Given the description of an element on the screen output the (x, y) to click on. 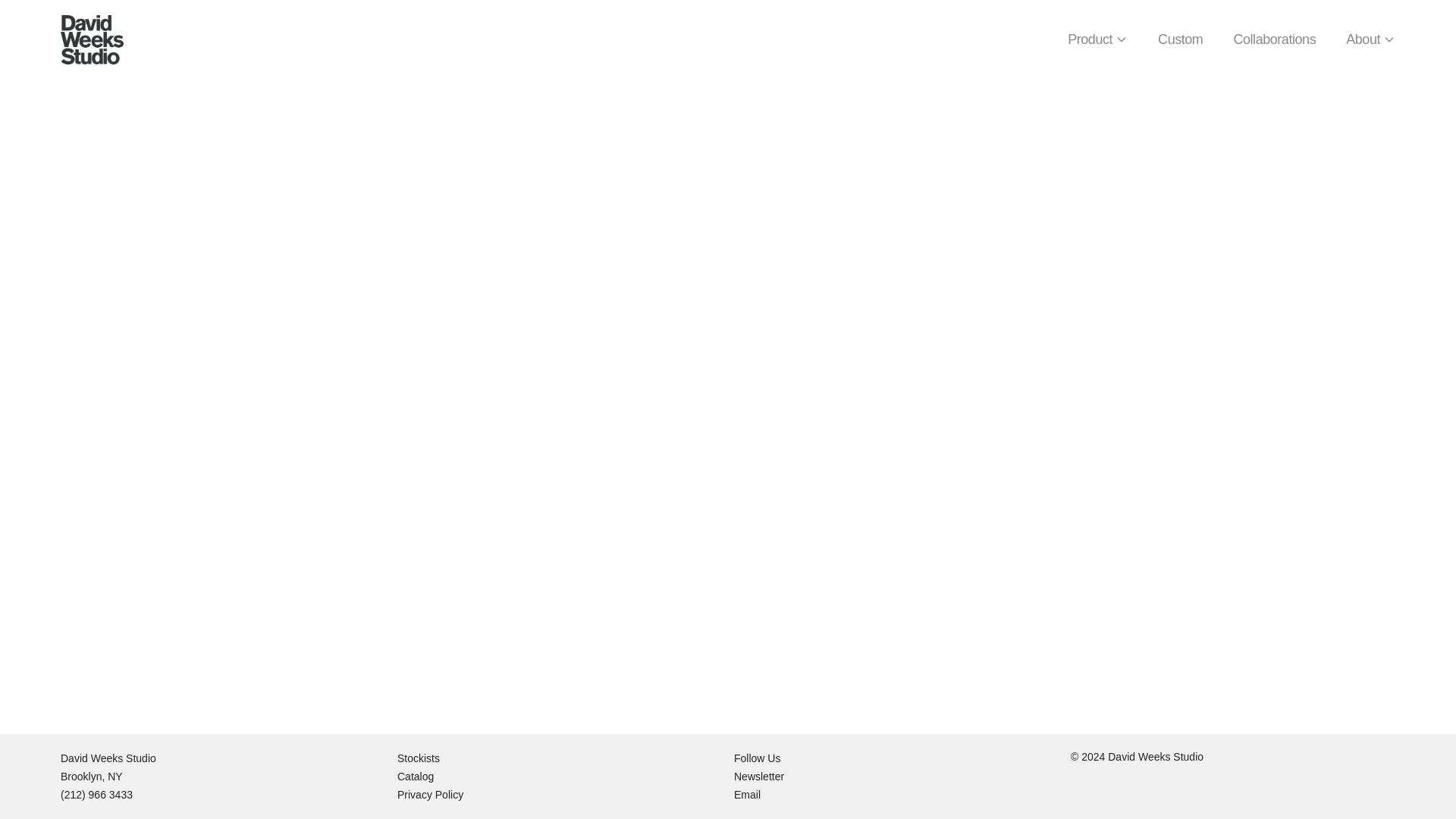
Company (92, 39)
About (1369, 38)
Custom (1179, 38)
Follow Us (756, 758)
Email (746, 794)
Collaborations (1274, 38)
Product (1096, 38)
Newsletter (758, 776)
Catalog (415, 776)
Stockists (418, 758)
